Given the description of an element on the screen output the (x, y) to click on. 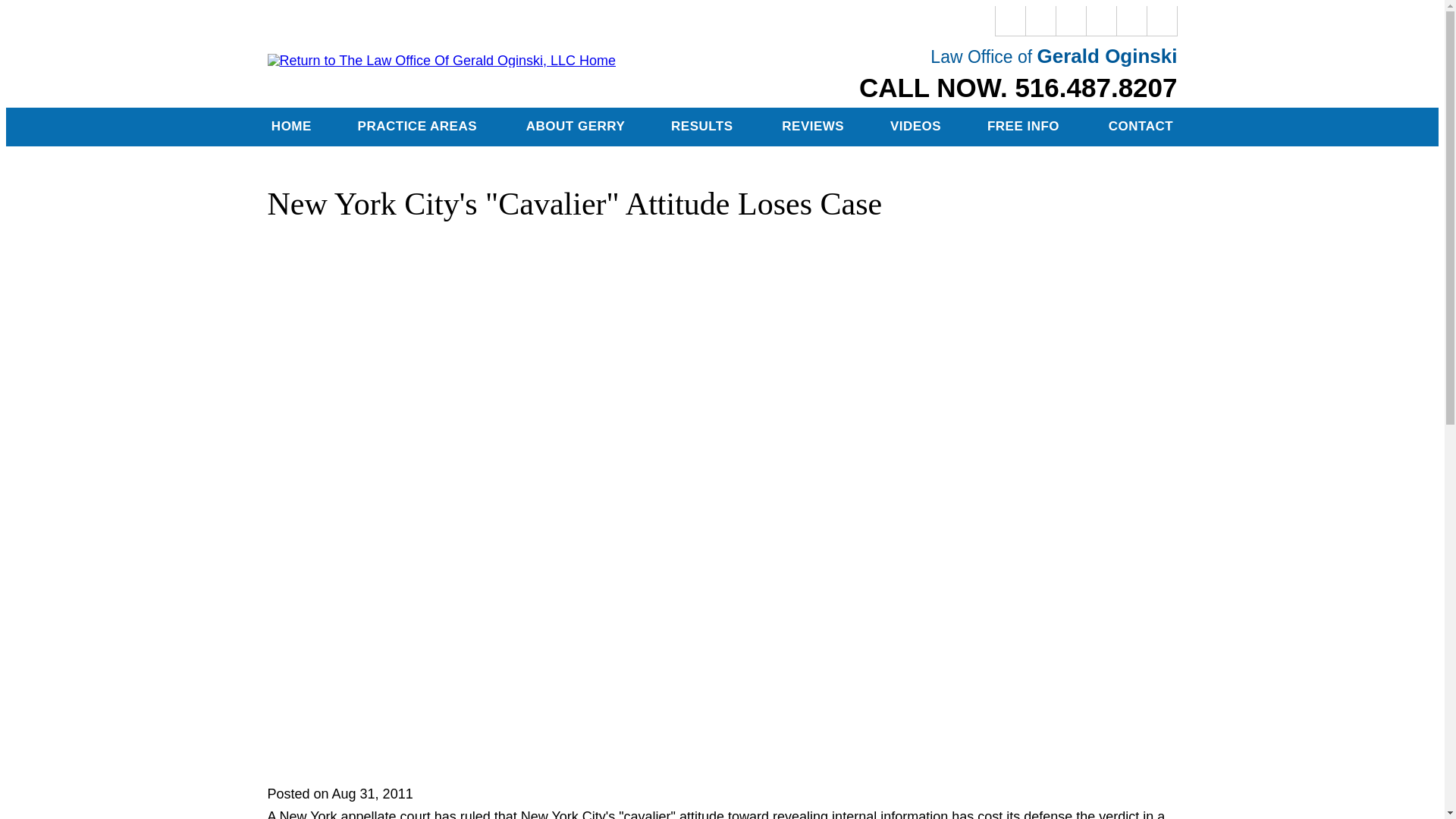
Search (1161, 20)
PRACTICE AREAS (418, 126)
FREE INFO (1024, 126)
RESULTS (702, 126)
CONTACT (1139, 126)
REVIEWS (812, 126)
HOME (291, 126)
VIDEOS (915, 126)
ABOUT GERRY (574, 126)
